Given the description of an element on the screen output the (x, y) to click on. 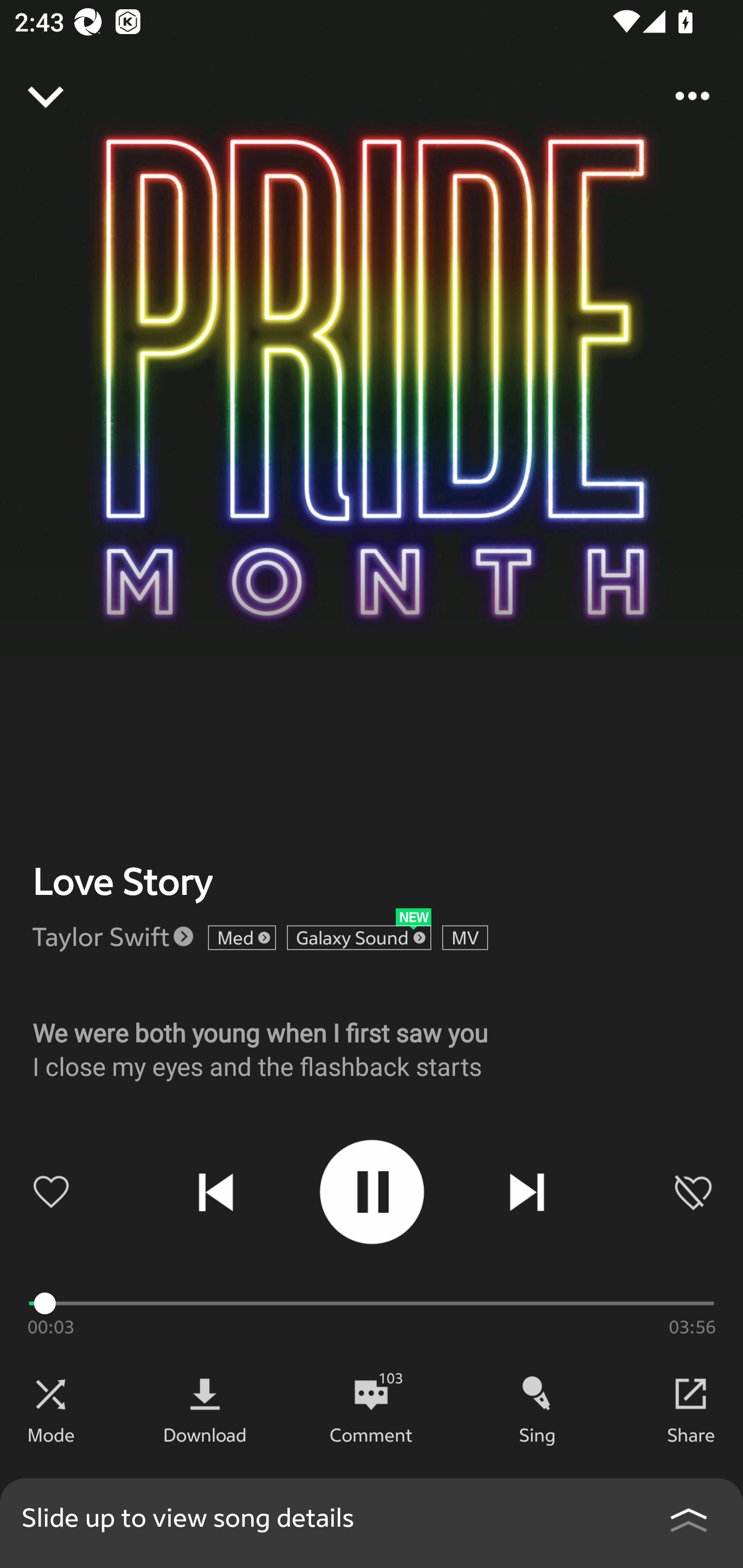
Love Story (122, 881)
Taylor Swift (100, 935)
Med (242, 937)
Galaxy Sound (358, 937)
MV (465, 937)
103 (371, 1393)
Mode (51, 1434)
Download (204, 1434)
Comment (370, 1434)
Sing (537, 1434)
Share (691, 1434)
Slide up to view song details (371, 1523)
